Given the description of an element on the screen output the (x, y) to click on. 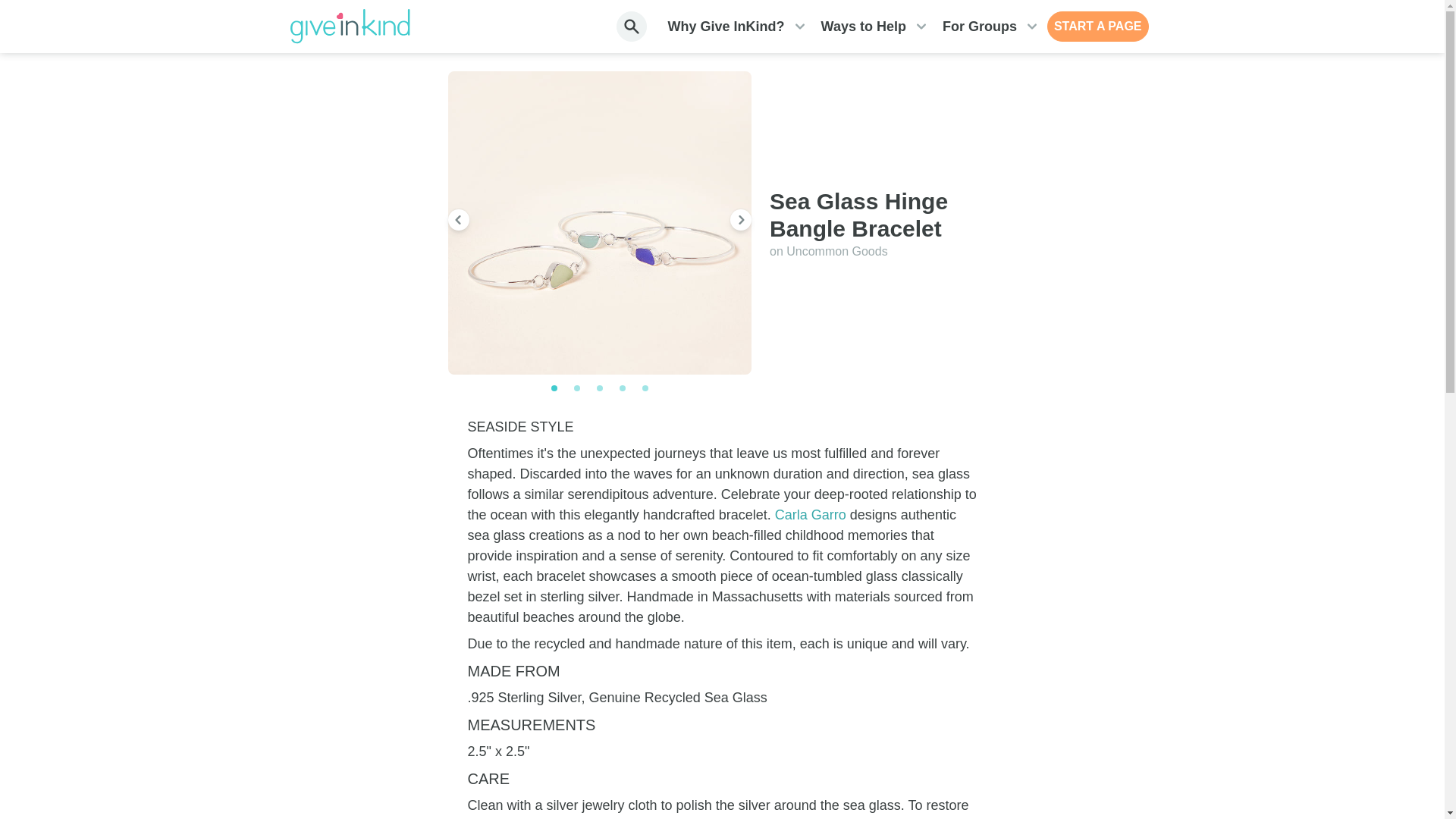
START A PAGE (1097, 26)
Why Give InKind? (726, 27)
For Groups (979, 27)
Carla Garro (809, 514)
Ways to Help (863, 27)
